Given the description of an element on the screen output the (x, y) to click on. 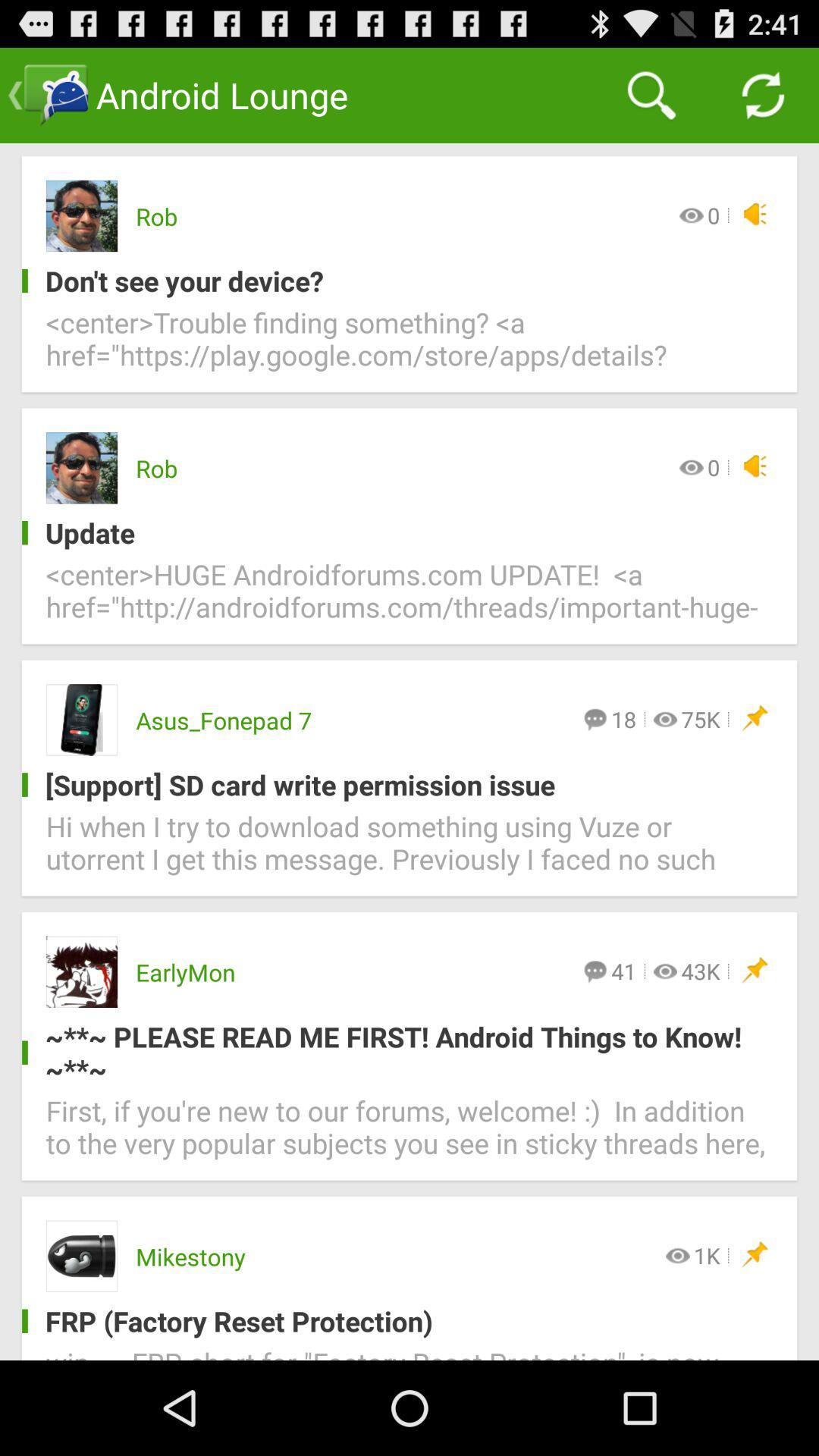
turn off icon above support sd card (700, 719)
